Given the description of an element on the screen output the (x, y) to click on. 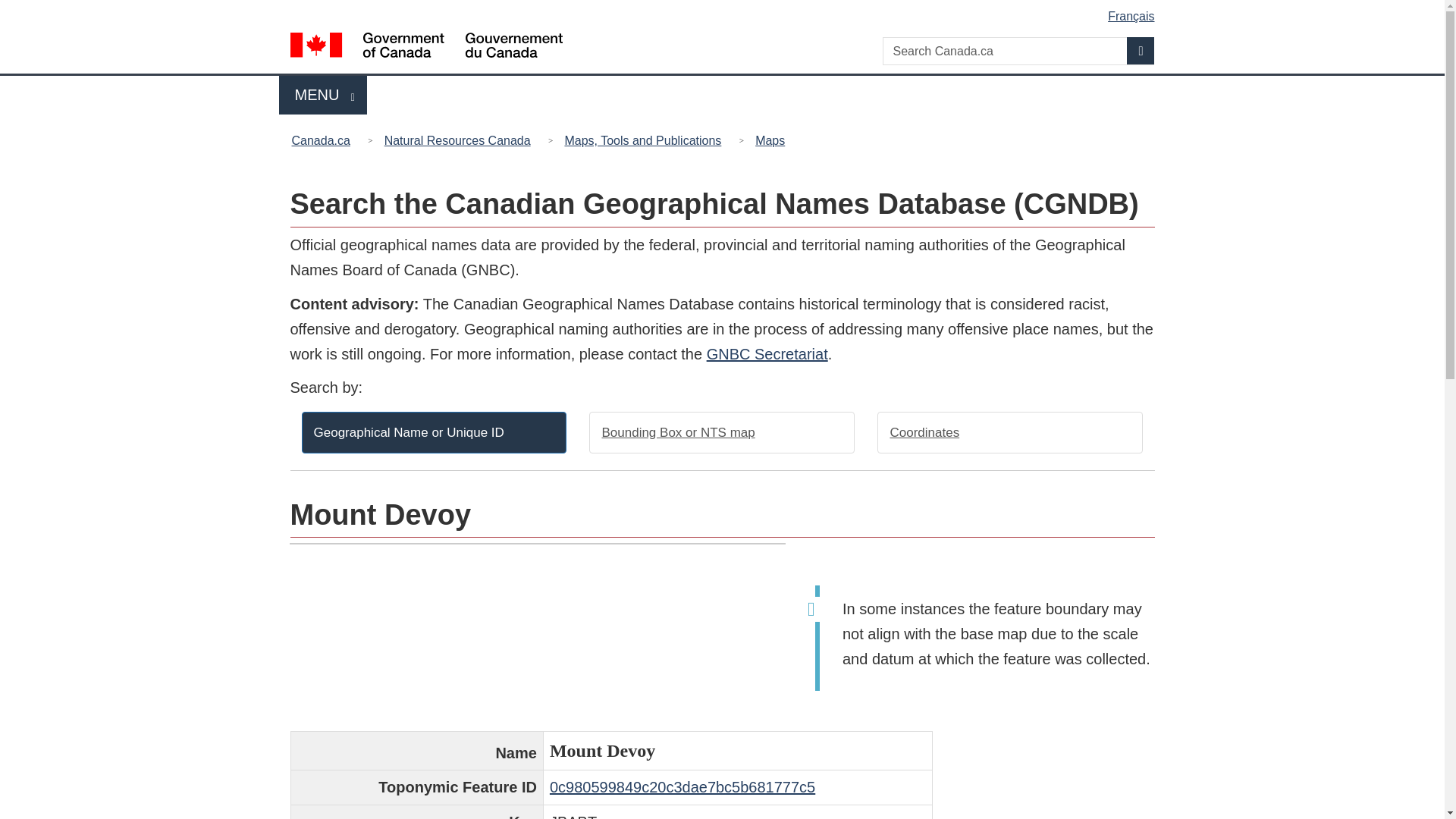
0c980599849c20c3dae7bc5b681777c5 (682, 786)
Bounding Box or NTS map (721, 432)
Geographical Name or Unique ID (434, 432)
Natural Resources Canada (457, 140)
GNBC Secretariat (767, 353)
Search (322, 95)
Coordinates (1140, 50)
Skip to main content (1009, 432)
Maps (725, 11)
